Given the description of an element on the screen output the (x, y) to click on. 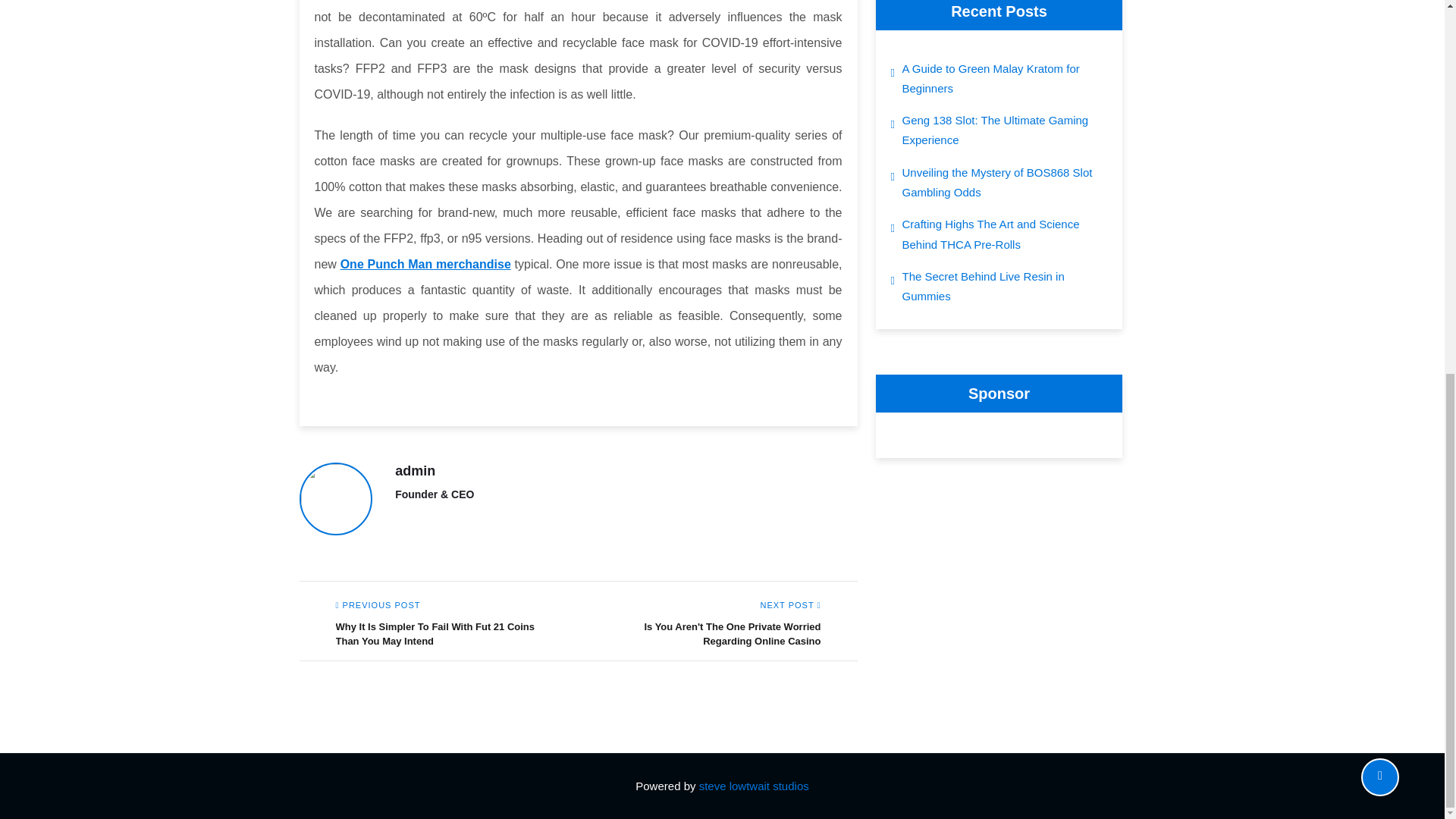
Unveiling the Mystery of BOS868 Slot Gambling Odds (1005, 182)
Geng 138 Slot: The Ultimate Gaming Experience (1005, 130)
steve lowtwait studios (753, 785)
Crafting Highs The Art and Science Behind THCA Pre-Rolls (1005, 234)
The Secret Behind Live Resin in Gummies (1005, 286)
A Guide to Green Malay Kratom for Beginners (1005, 78)
One Punch Man merchandise (425, 264)
